Given the description of an element on the screen output the (x, y) to click on. 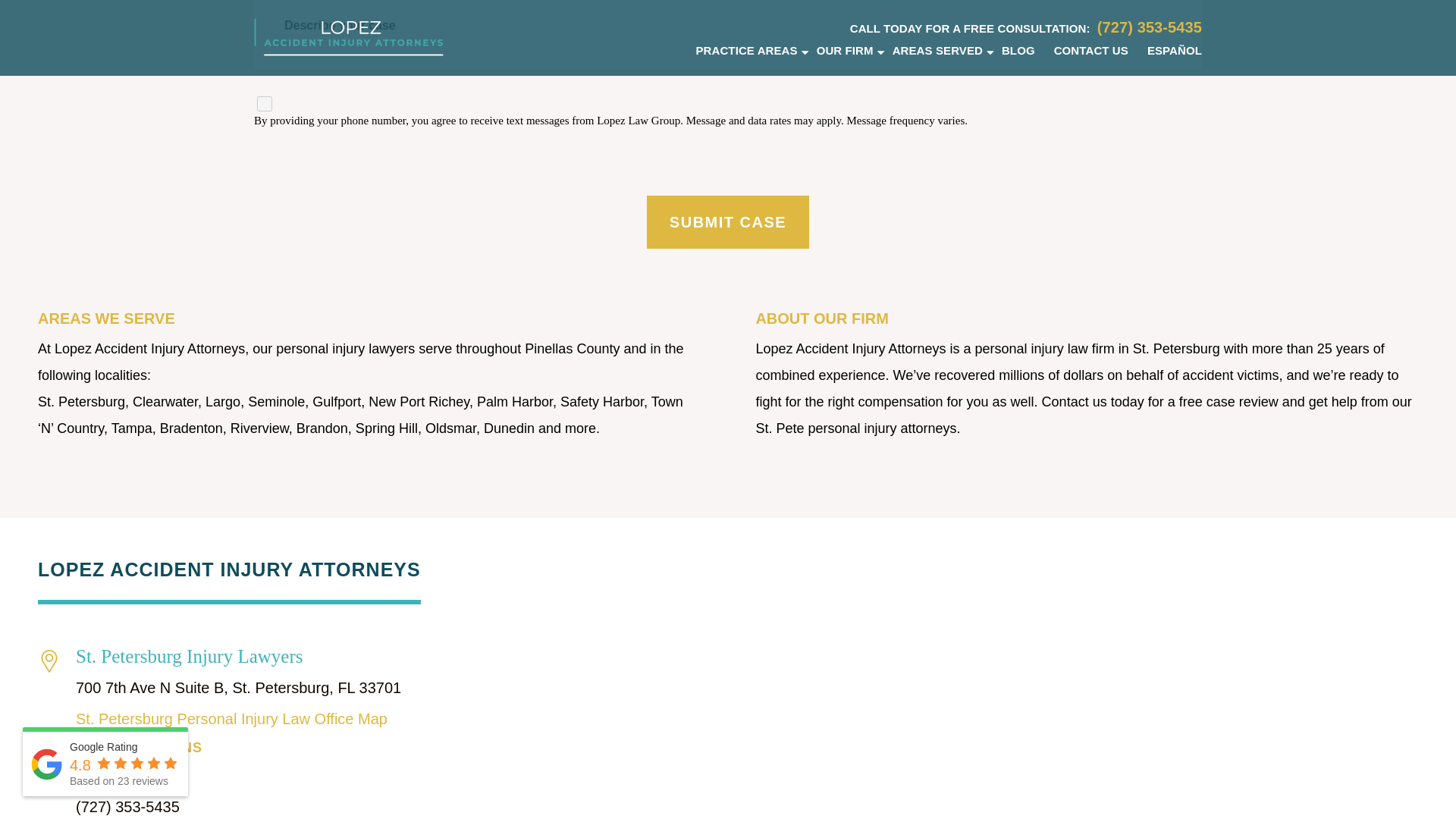
1 (264, 103)
Submit Case (727, 221)
